Given the description of an element on the screen output the (x, y) to click on. 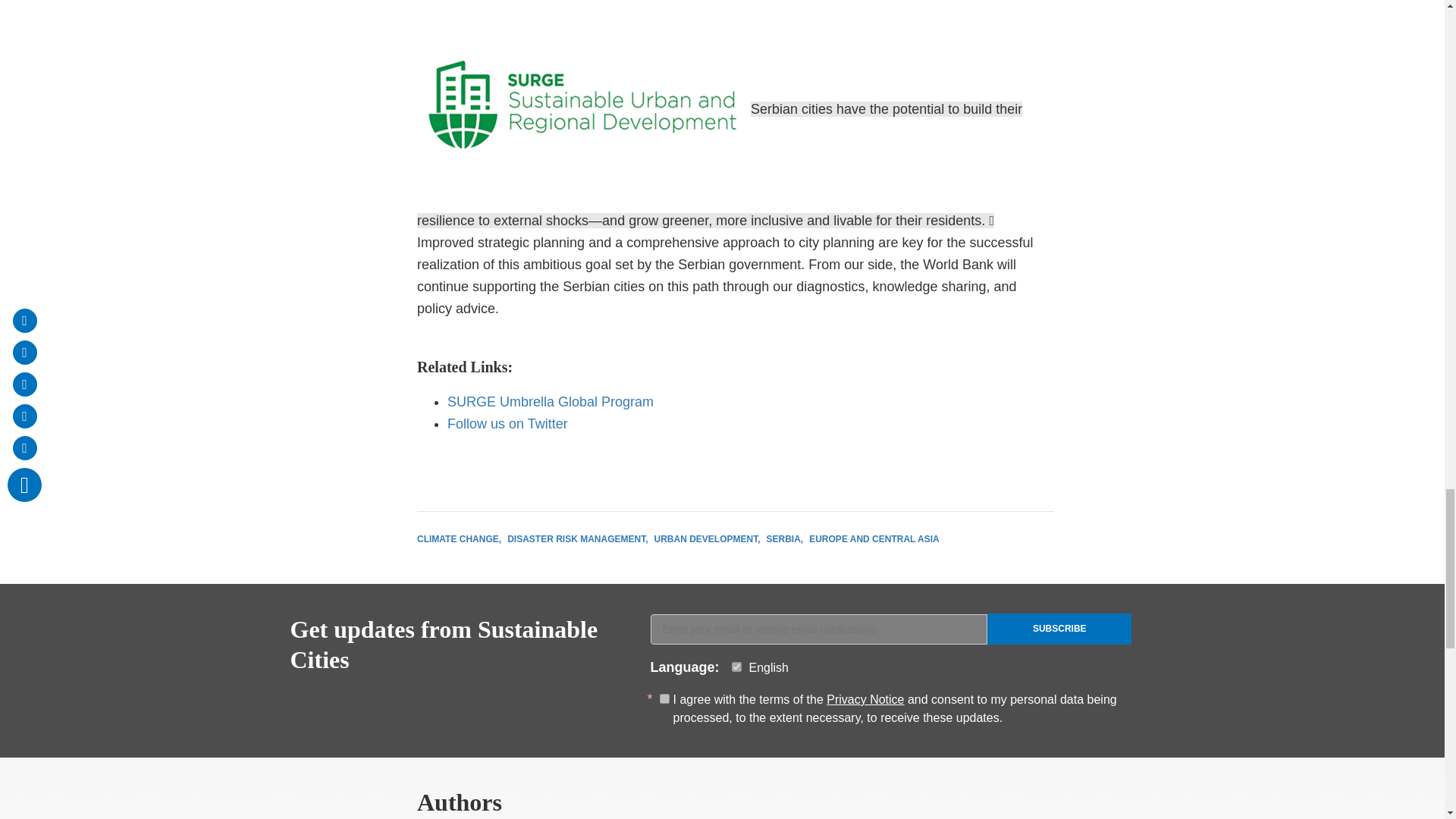
1 (664, 698)
URBAN DEVELOPMENT (706, 538)
Follow us on Twitter (506, 423)
CLIMATE CHANGE (458, 538)
Privacy Notice (865, 698)
SERBIA (785, 538)
en (736, 666)
DISASTER RISK MANAGEMENT (576, 538)
EUROPE AND CENTRAL ASIA (874, 538)
